Given the description of an element on the screen output the (x, y) to click on. 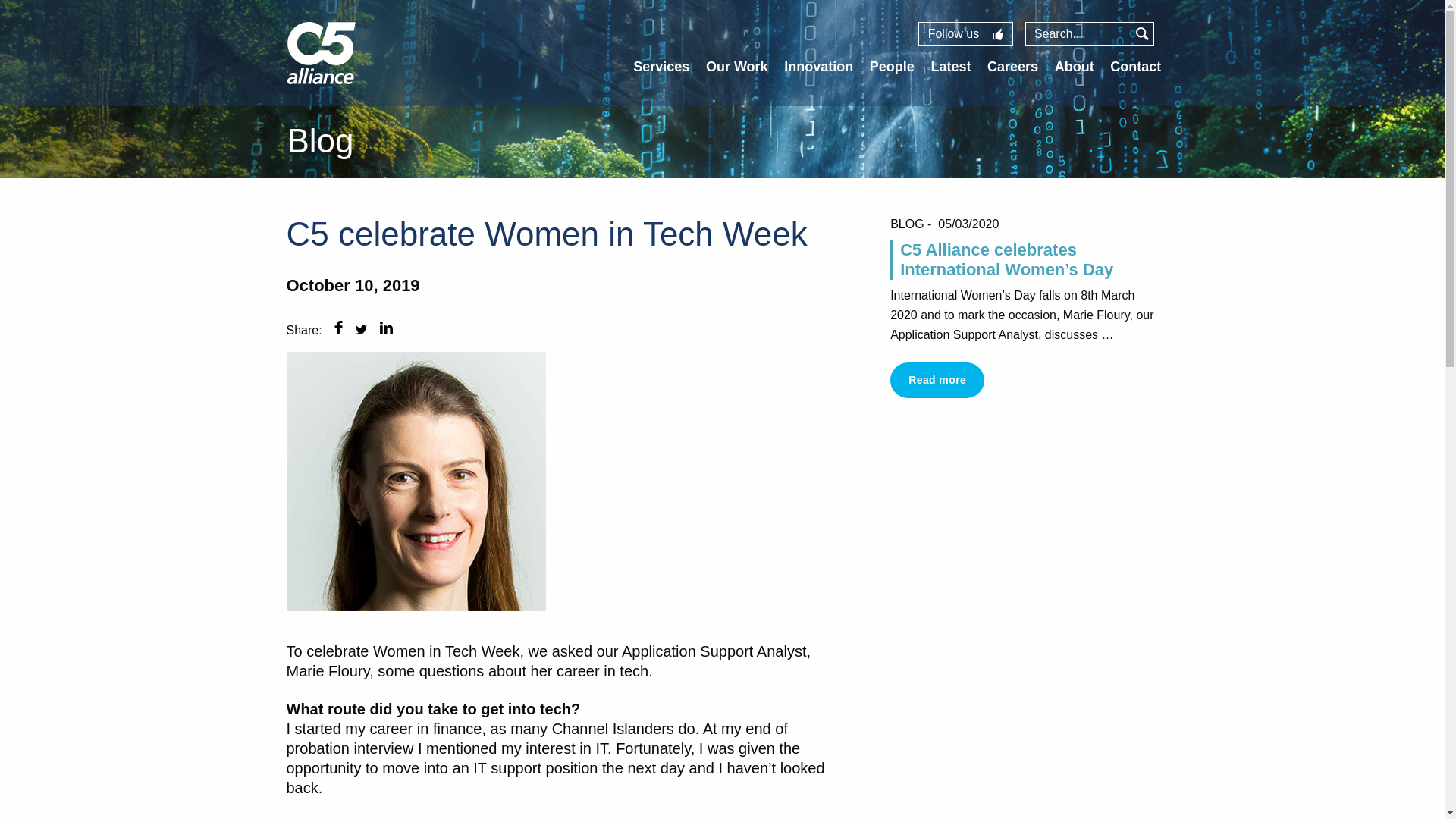
Innovation (818, 66)
Return To Homepage (320, 79)
Services (660, 66)
People (891, 66)
Share on Linkedin (386, 329)
Contact (1134, 66)
About (1074, 66)
Share on Twitter (361, 329)
Read more (936, 379)
Follow us (965, 33)
Search... (1078, 33)
Our Work (737, 66)
Careers (1012, 66)
Search... (1078, 33)
Latest (950, 66)
